Given the description of an element on the screen output the (x, y) to click on. 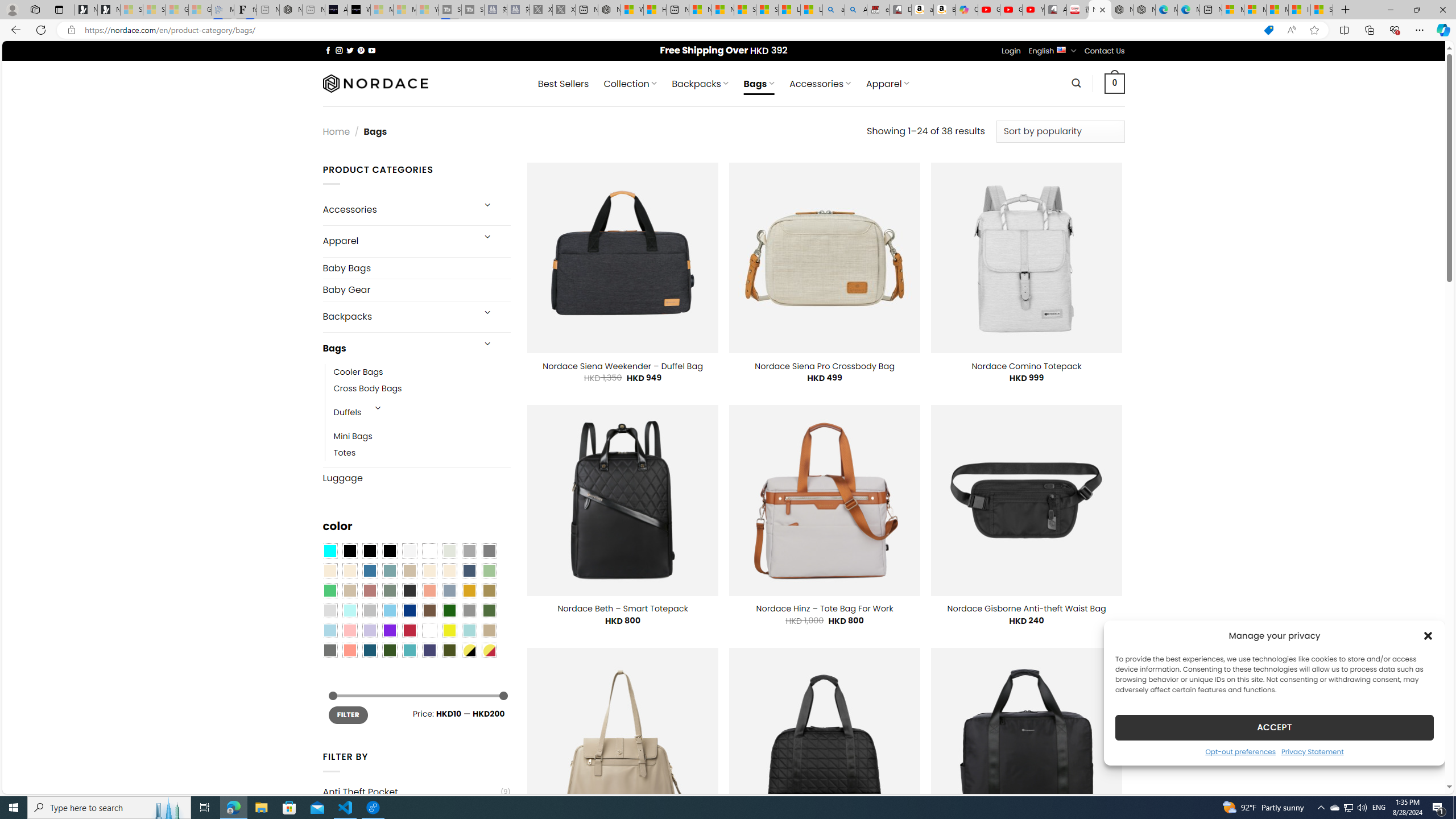
Brown (429, 610)
Capri Blue (369, 649)
Anti Theft Pocket (410, 791)
Login (1010, 50)
What's the best AI voice generator? - voice.ai (359, 9)
Sky Blue (389, 610)
Yellow-Red (488, 649)
Totes (422, 452)
Address and search bar (669, 29)
